Given the description of an element on the screen output the (x, y) to click on. 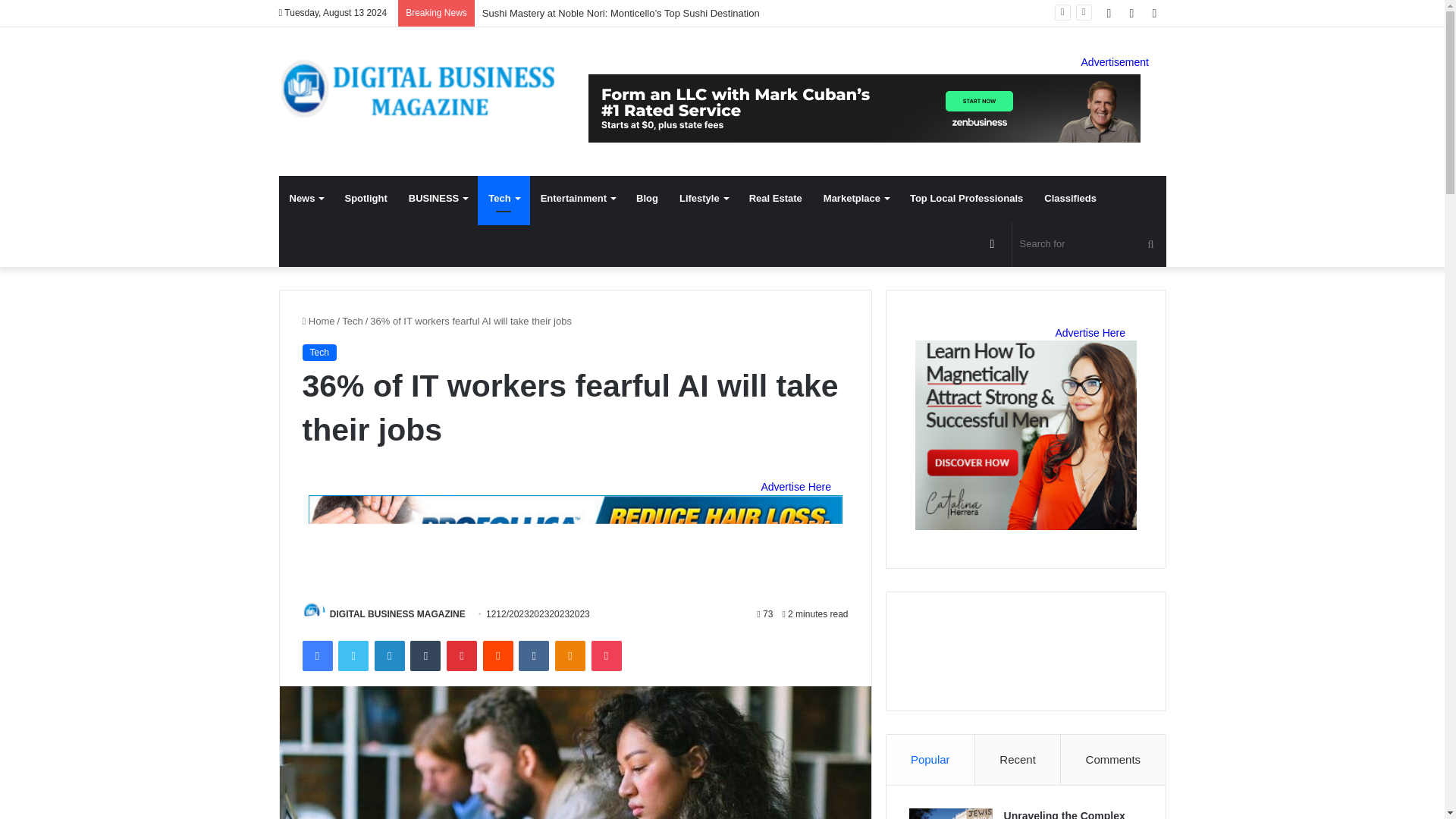
Entertainment (577, 198)
Facebook (316, 655)
DIGITAL BUSINESS MAGAZINE (397, 614)
Digital Business Magazine (419, 88)
Spotlight (365, 198)
Reddit (498, 655)
BUSINESS (437, 198)
Tumblr (425, 655)
Twitter (352, 655)
News (306, 198)
